Given the description of an element on the screen output the (x, y) to click on. 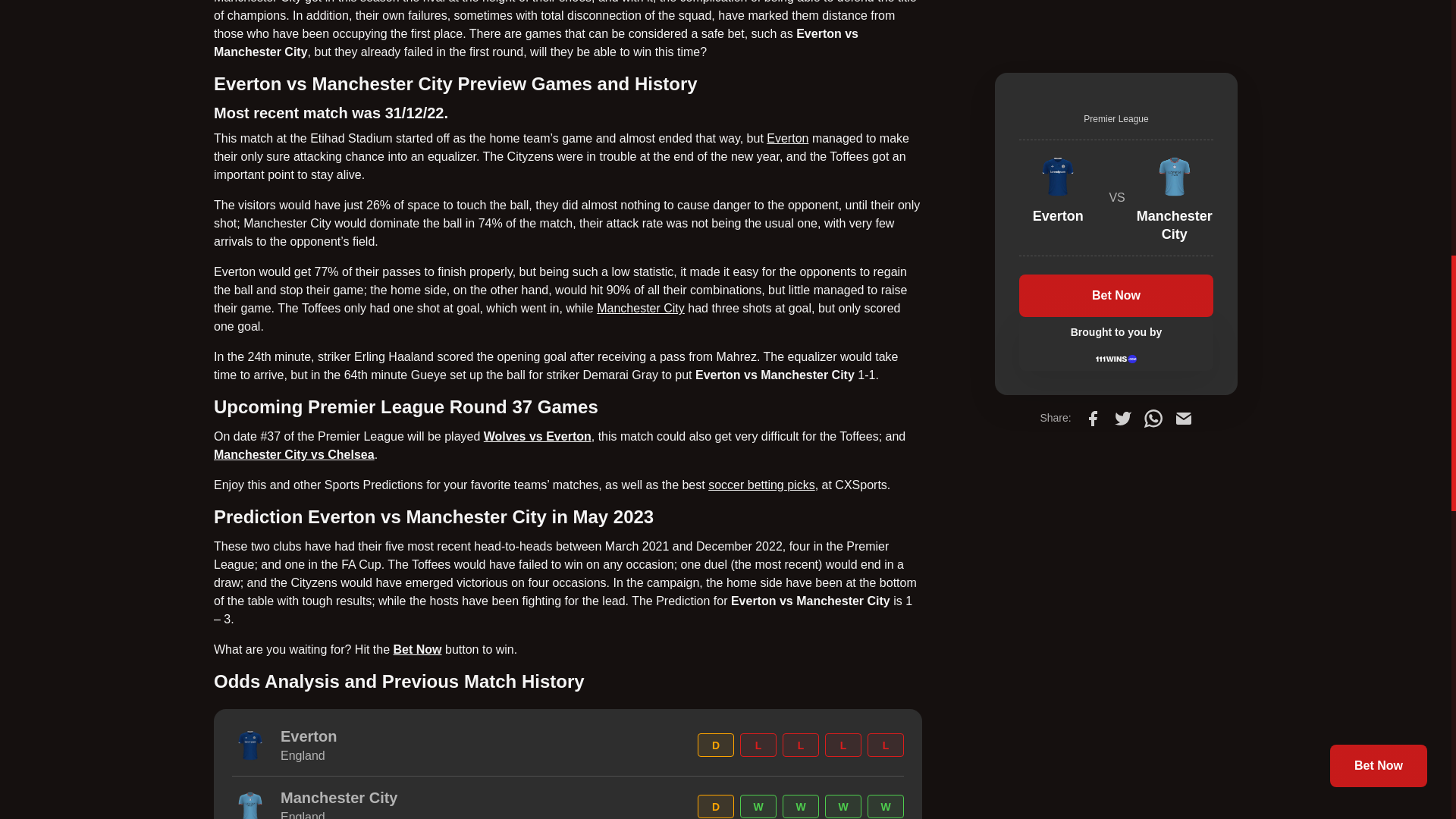
Everton vs Fulham Prediction and Odds (787, 137)
Manchester City vs Leicester City Prediction and Odds (640, 308)
soccer betting picks (761, 484)
prediction Manchester City vs Chelsea (294, 454)
Wolves vs Everton predictions (537, 436)
Bet Now (417, 649)
